Given the description of an element on the screen output the (x, y) to click on. 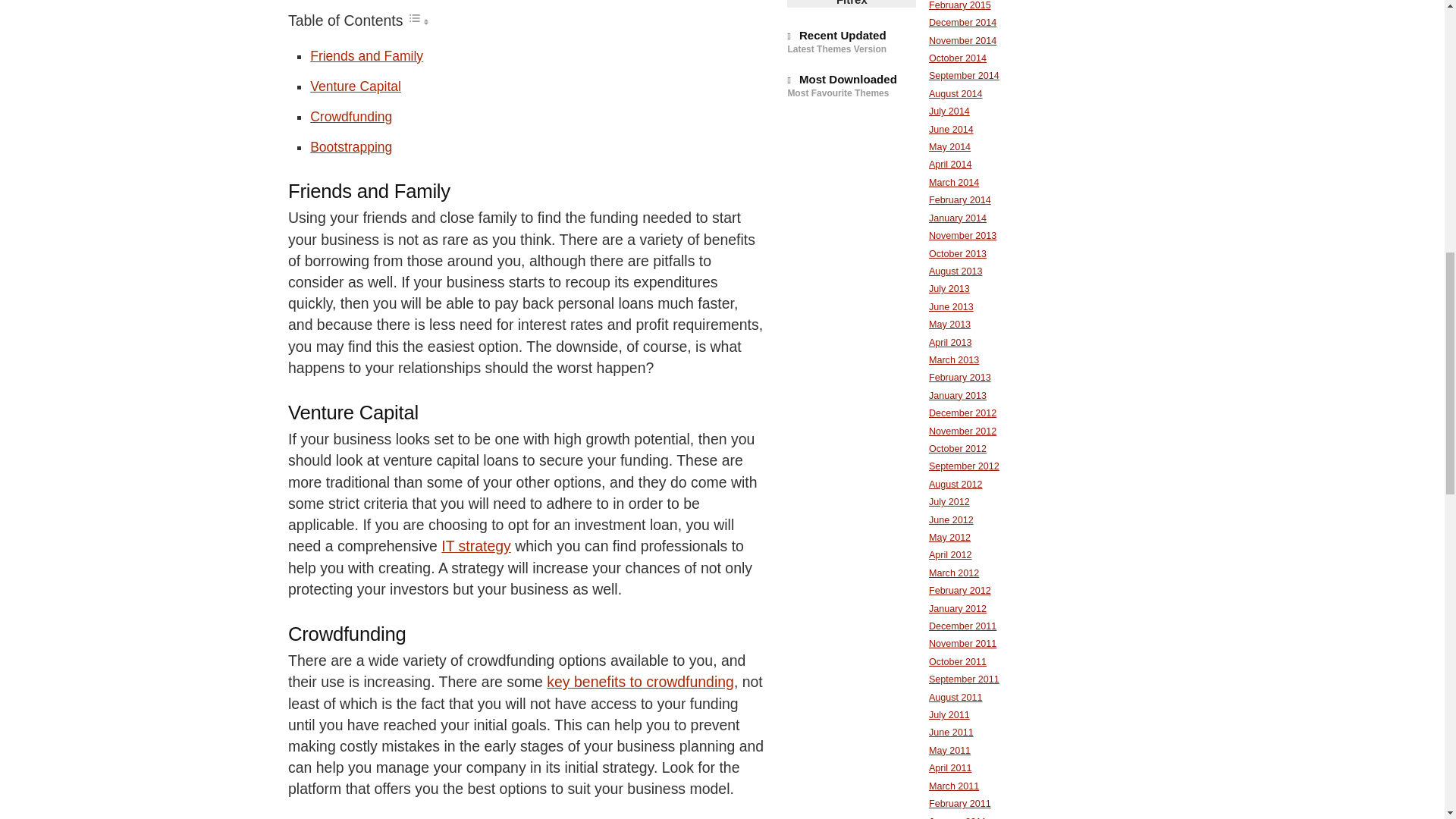
key benefits to crowdfunding (640, 681)
Venture Capital (355, 86)
Bootstrapping (350, 146)
Friends and Family (366, 55)
Friends and Family (366, 55)
Crowdfunding (350, 116)
IT strategy (476, 545)
Crowdfunding (350, 116)
Bootstrapping (350, 146)
Venture Capital (355, 86)
